Given the description of an element on the screen output the (x, y) to click on. 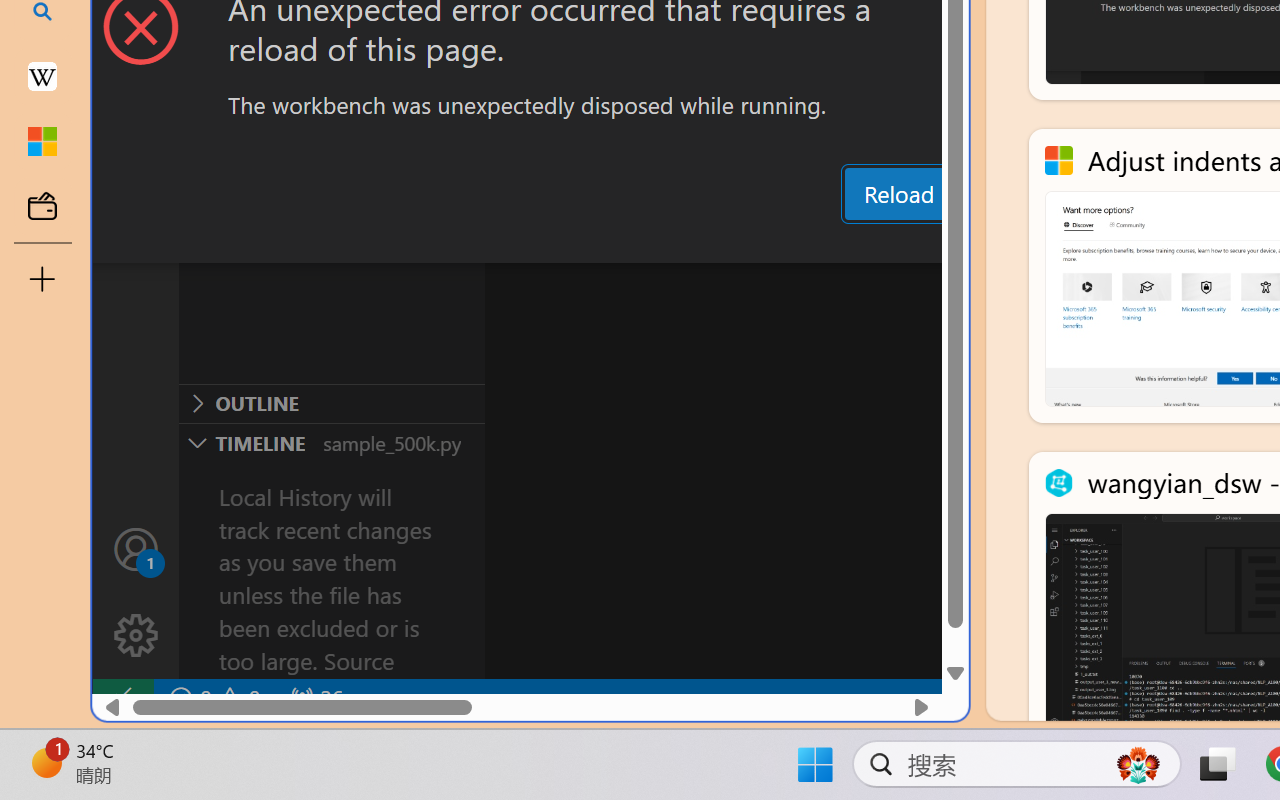
Problems (Ctrl+Shift+M) (567, 243)
Manage (135, 591)
Timeline Section (331, 442)
Output (Ctrl+Shift+U) (696, 243)
Accounts - Sign in requested (135, 548)
Earth - Wikipedia (42, 75)
remote (122, 698)
